Given the description of an element on the screen output the (x, y) to click on. 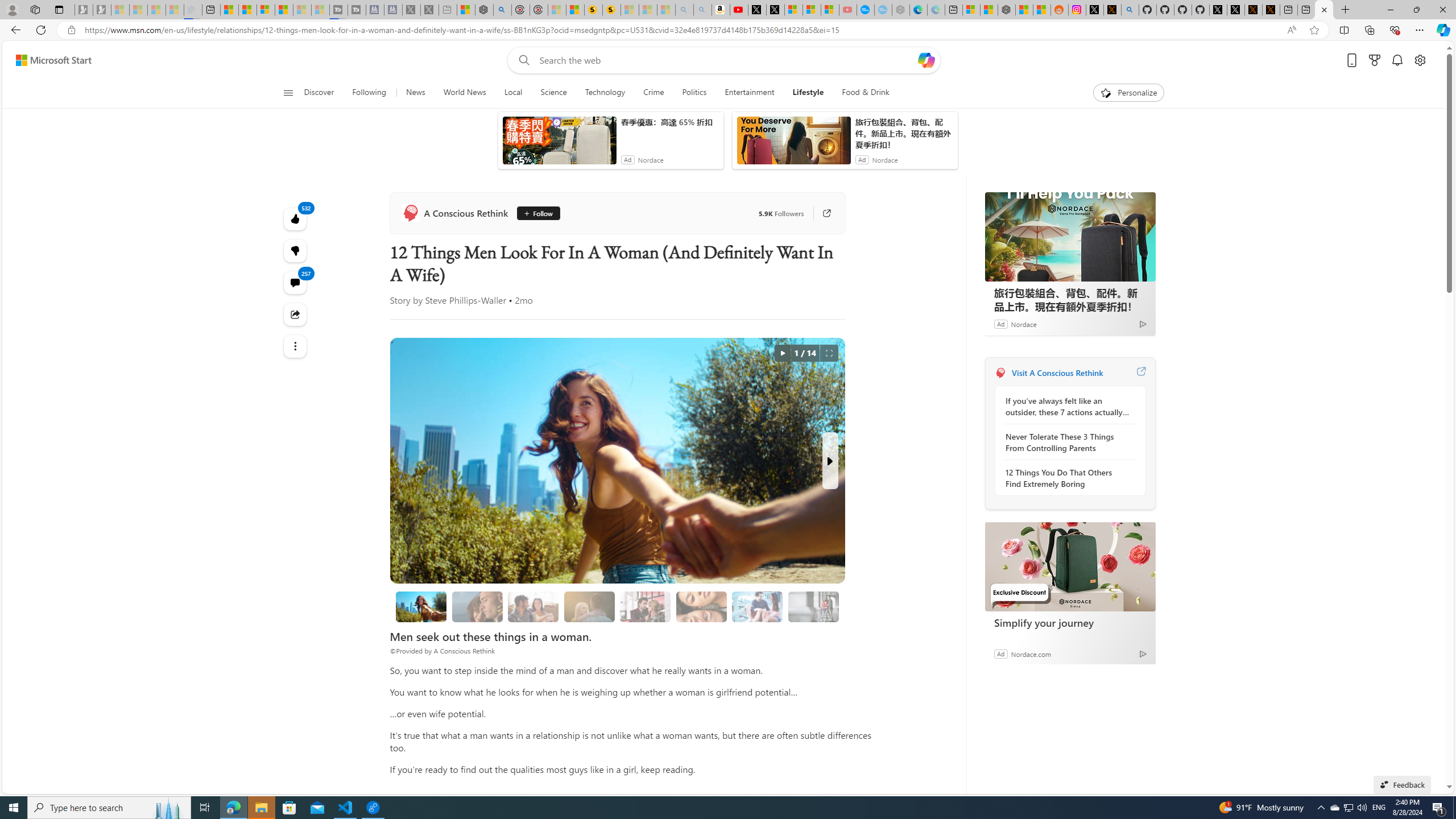
Wildlife - MSN (459, 9)
Import favorites (36, 49)
App launcher (27, 78)
hotels-header-icon (1006, 358)
Money (497, 151)
62 Like (652, 327)
Health (746, 151)
tab-4 (1032, 509)
Amazon Echo Dot PNG - Search Images - Sleeping (689, 9)
ABC News (299, 382)
Start the conversation (689, 327)
